Given the description of an element on the screen output the (x, y) to click on. 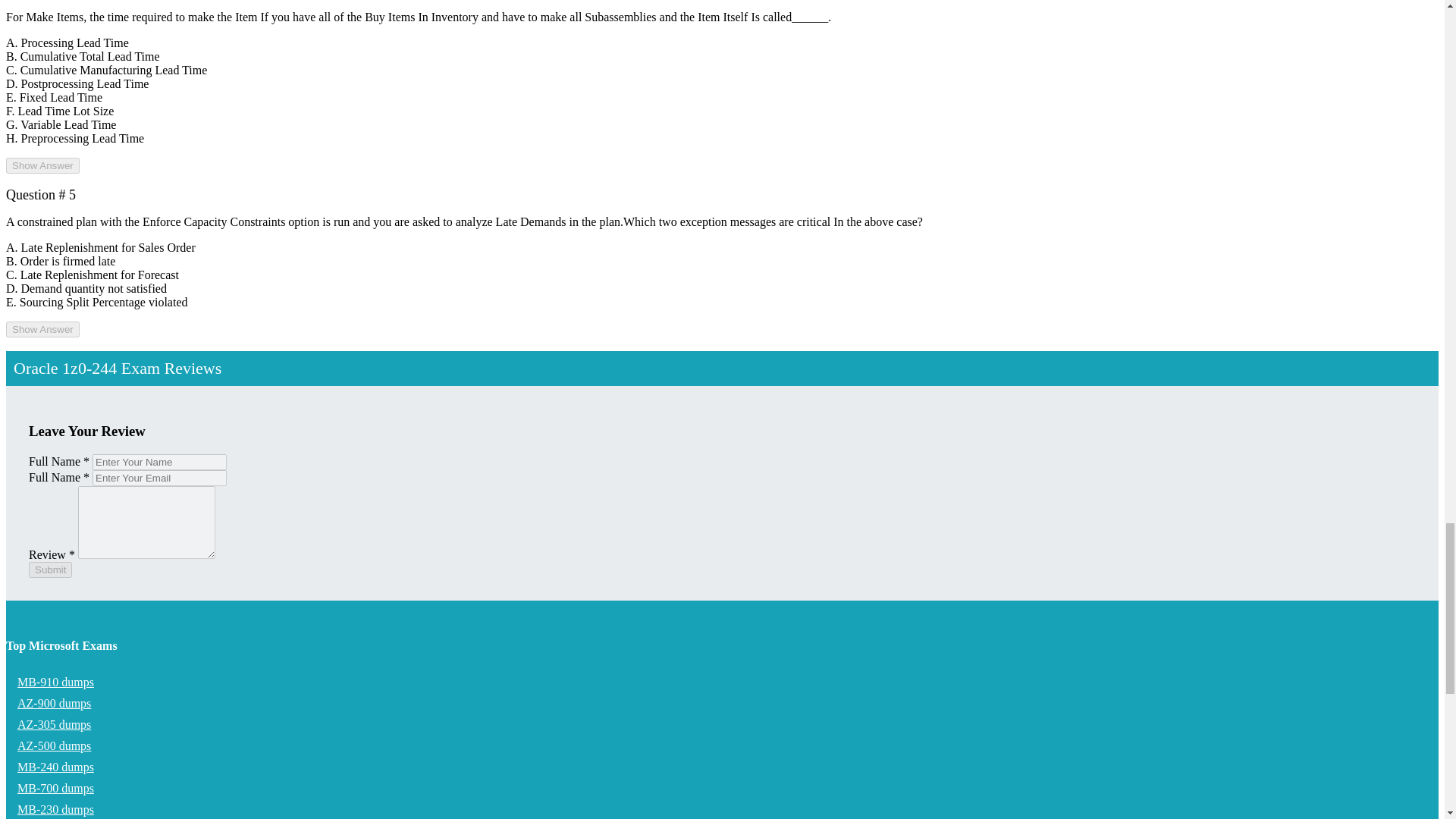
MB-700 dumps (54, 787)
AZ-900 dumps (53, 703)
AZ-305 dumps (53, 724)
Show Answer (42, 165)
MB-910 dumps (54, 682)
AZ-500 dumps (53, 746)
MB-230 dumps (54, 807)
MB-260 dumps (54, 817)
Show Answer (42, 329)
Submit (50, 569)
MB-240 dumps (54, 766)
